Given the description of an element on the screen output the (x, y) to click on. 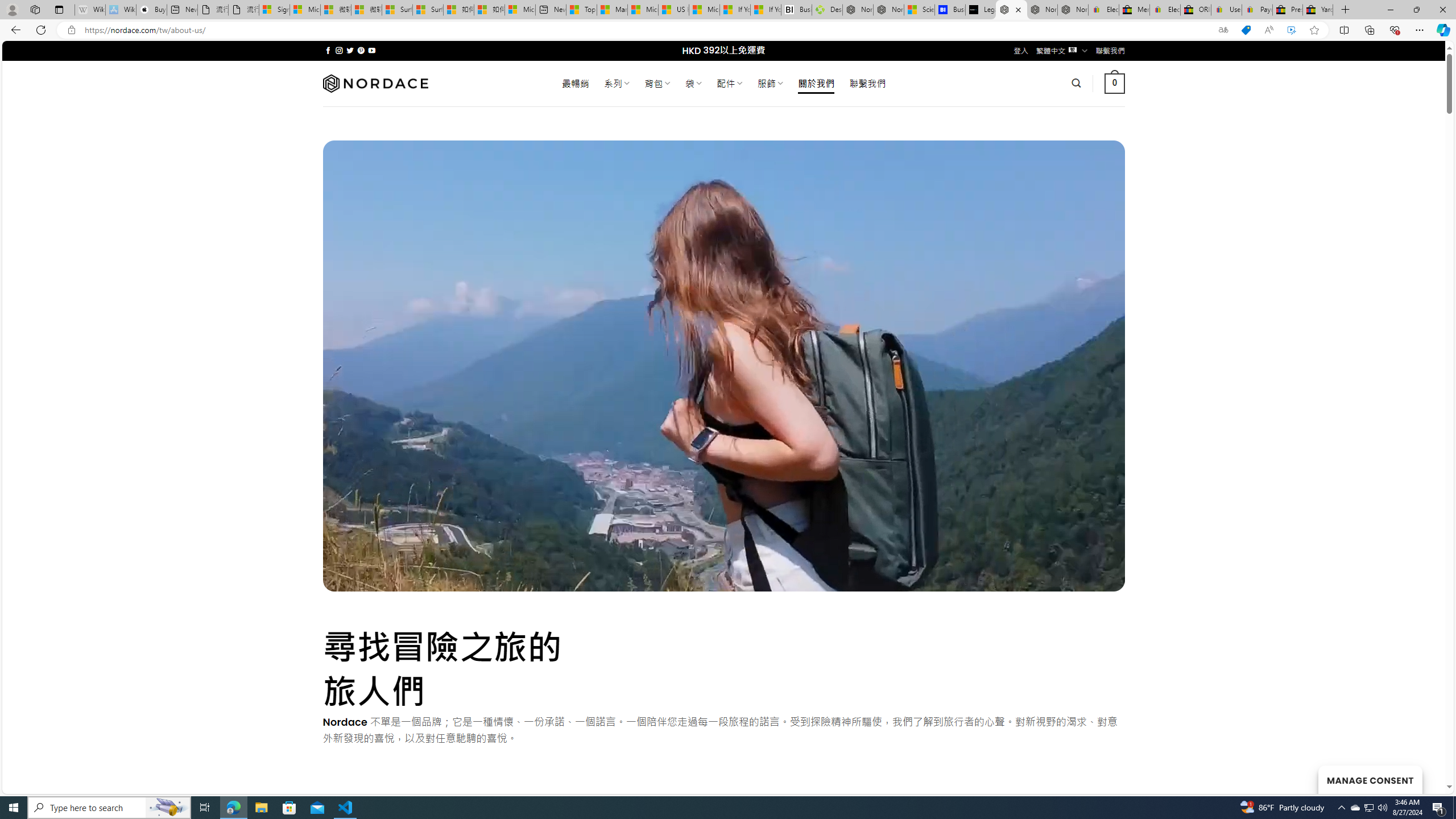
MANAGE CONSENT (1369, 779)
Follow on Facebook (327, 50)
